Given the description of an element on the screen output the (x, y) to click on. 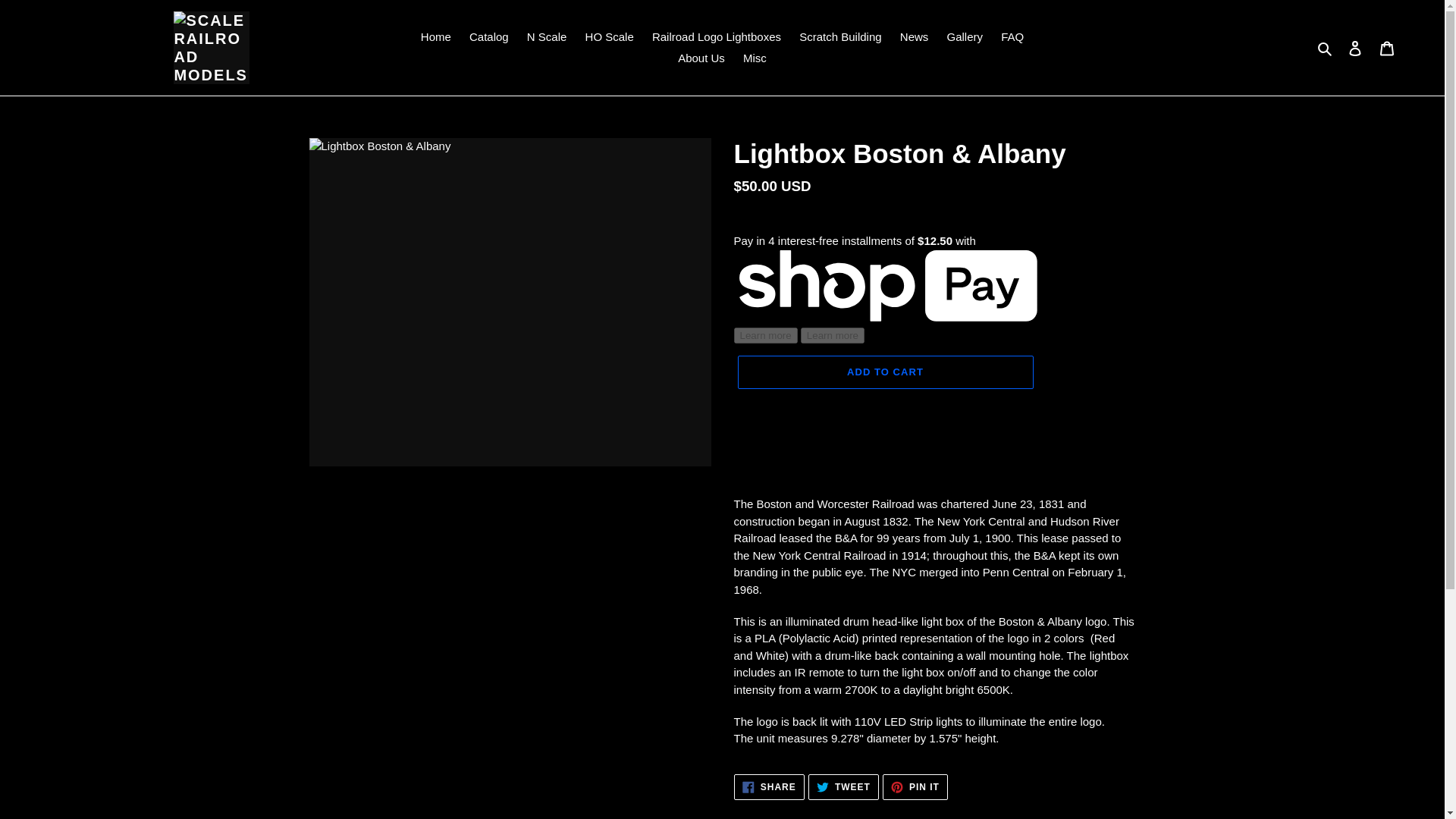
Scratch Building (769, 786)
Misc (914, 786)
Railroad Logo Lightboxes (840, 36)
HO Scale (754, 58)
Cart (717, 36)
N Scale (610, 36)
ADD TO CART (1387, 47)
News (547, 36)
